Given the description of an element on the screen output the (x, y) to click on. 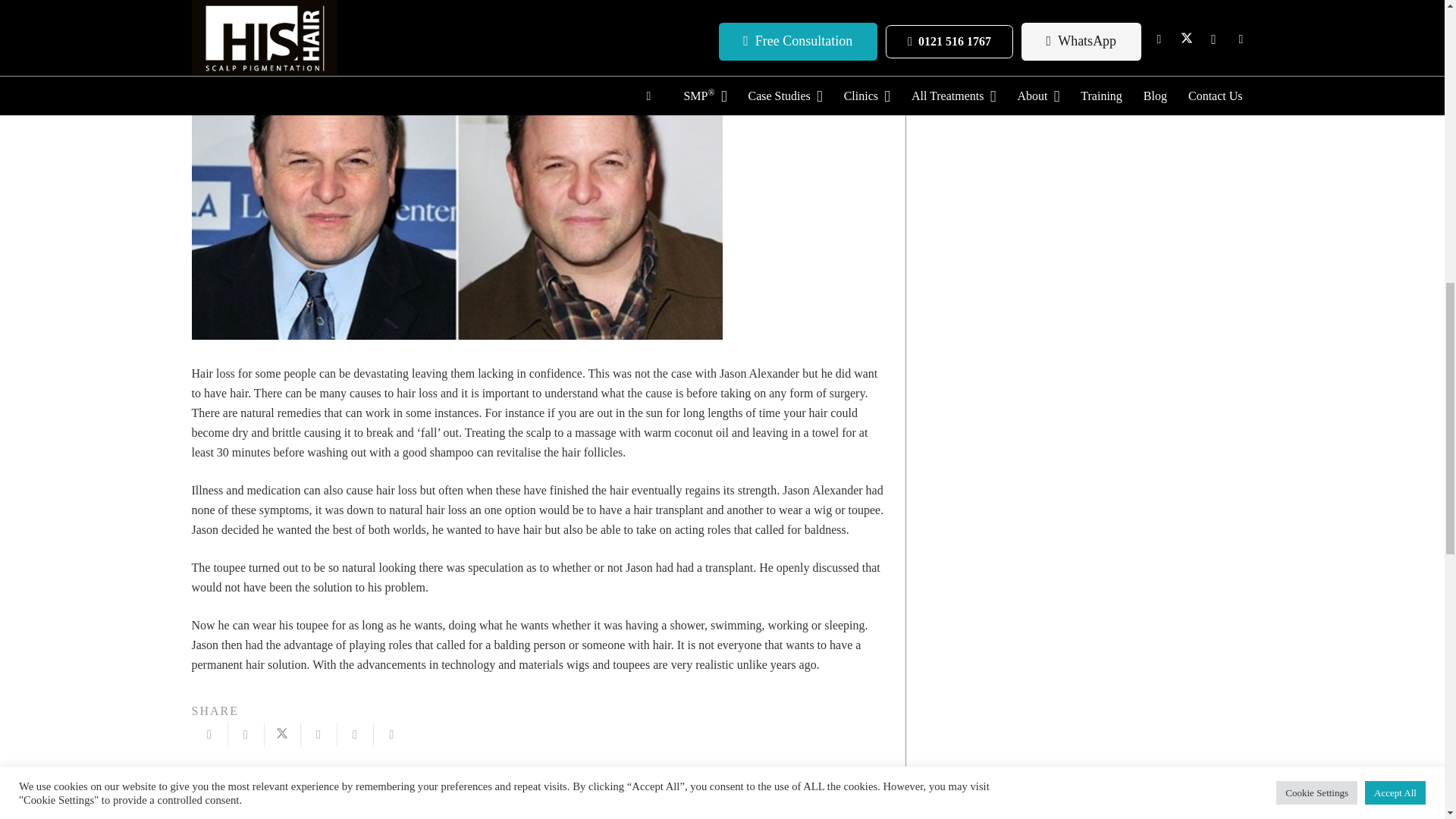
Pin this (354, 734)
Email this (208, 734)
Tweet this (281, 734)
Share this (245, 734)
Share this (390, 734)
Share this (317, 734)
A hair transplant for Calum Best (364, 796)
